Given the description of an element on the screen output the (x, y) to click on. 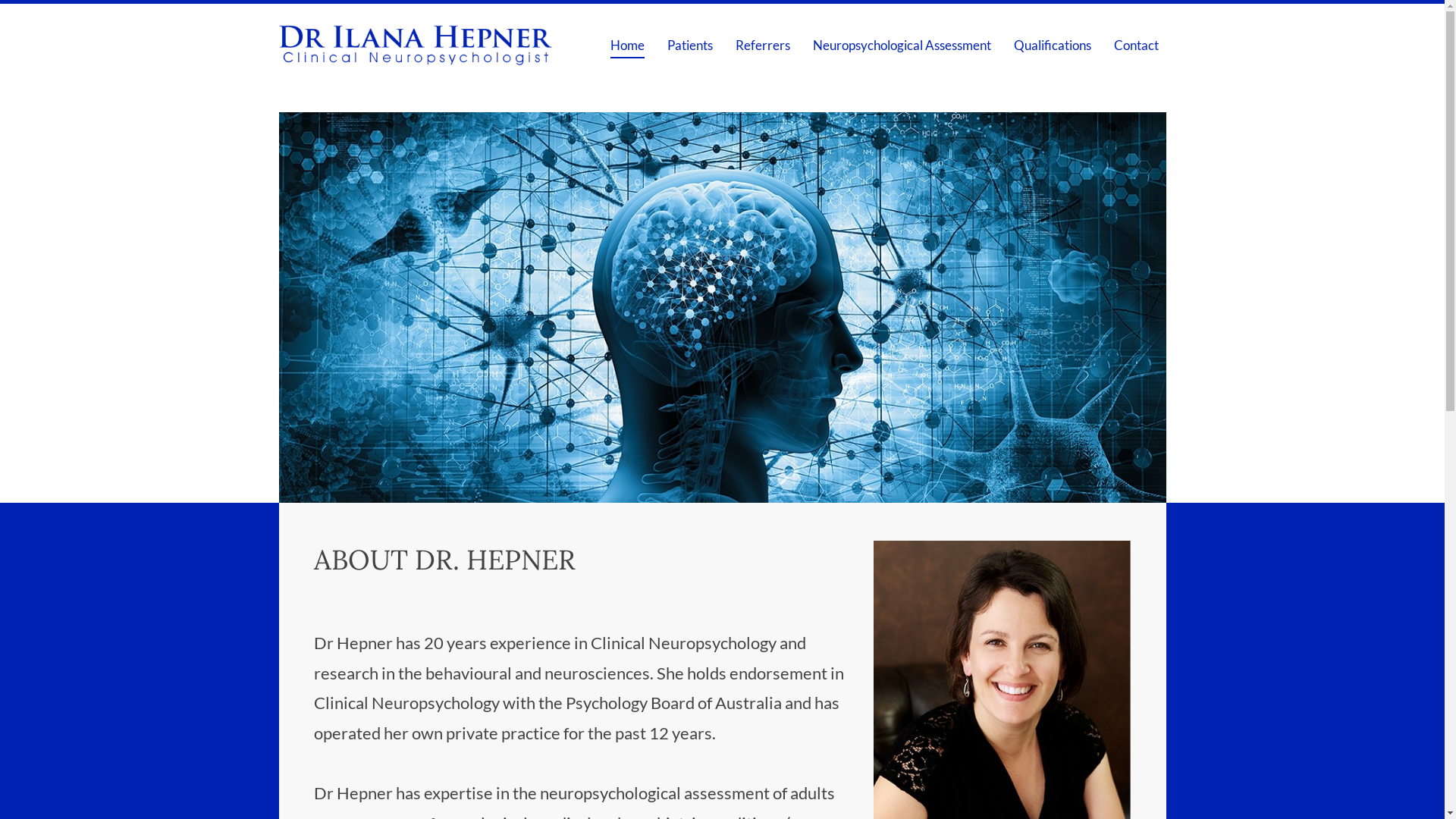
Neuropsychological Assessment Element type: text (901, 44)
Referrers Element type: text (762, 44)
Qualifications Element type: text (1051, 44)
Home Element type: text (626, 44)
Contact Element type: text (1135, 44)
Patients Element type: text (689, 44)
